Given the description of an element on the screen output the (x, y) to click on. 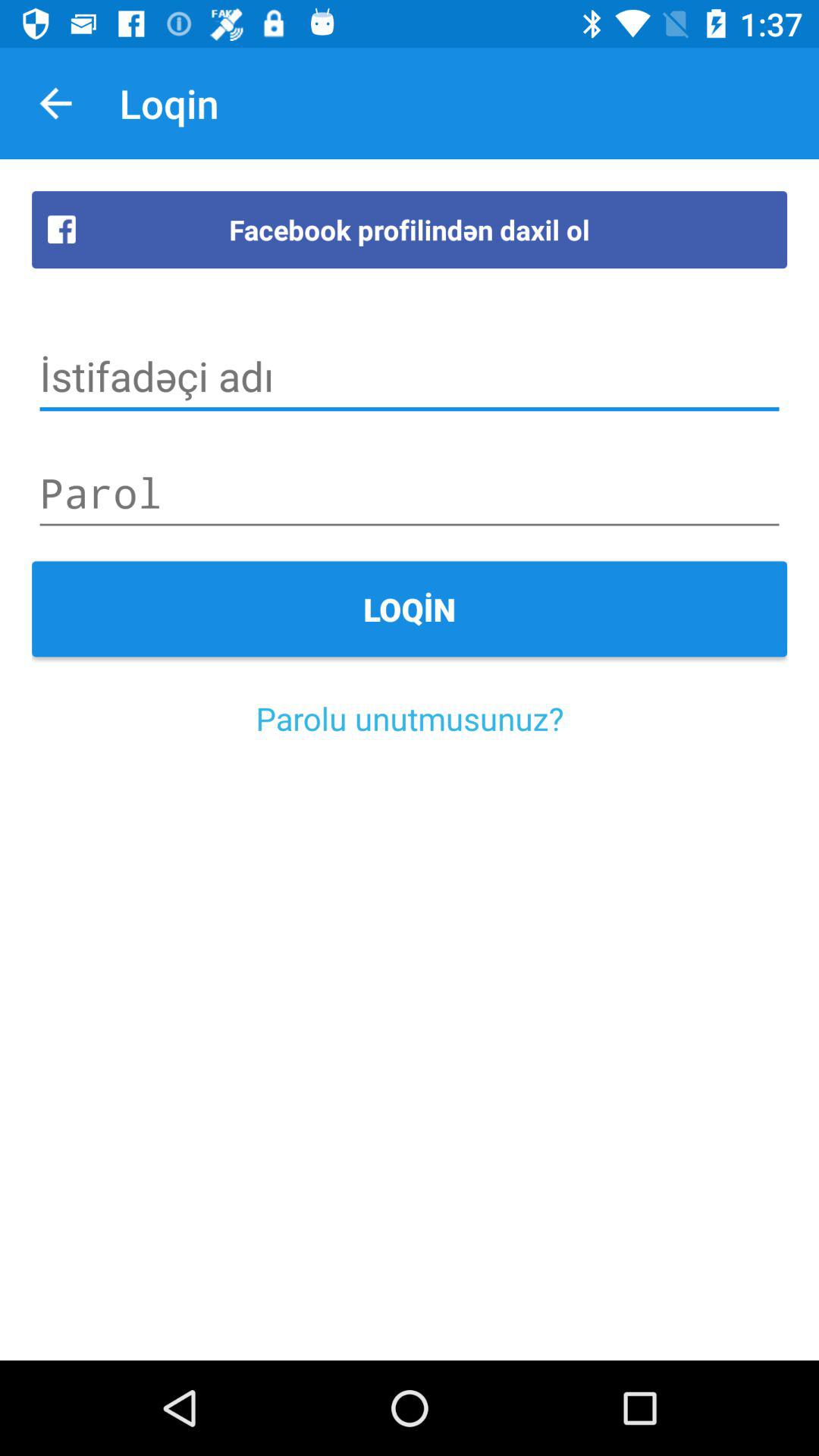
click the icon above the loqin (409, 492)
